Given the description of an element on the screen output the (x, y) to click on. 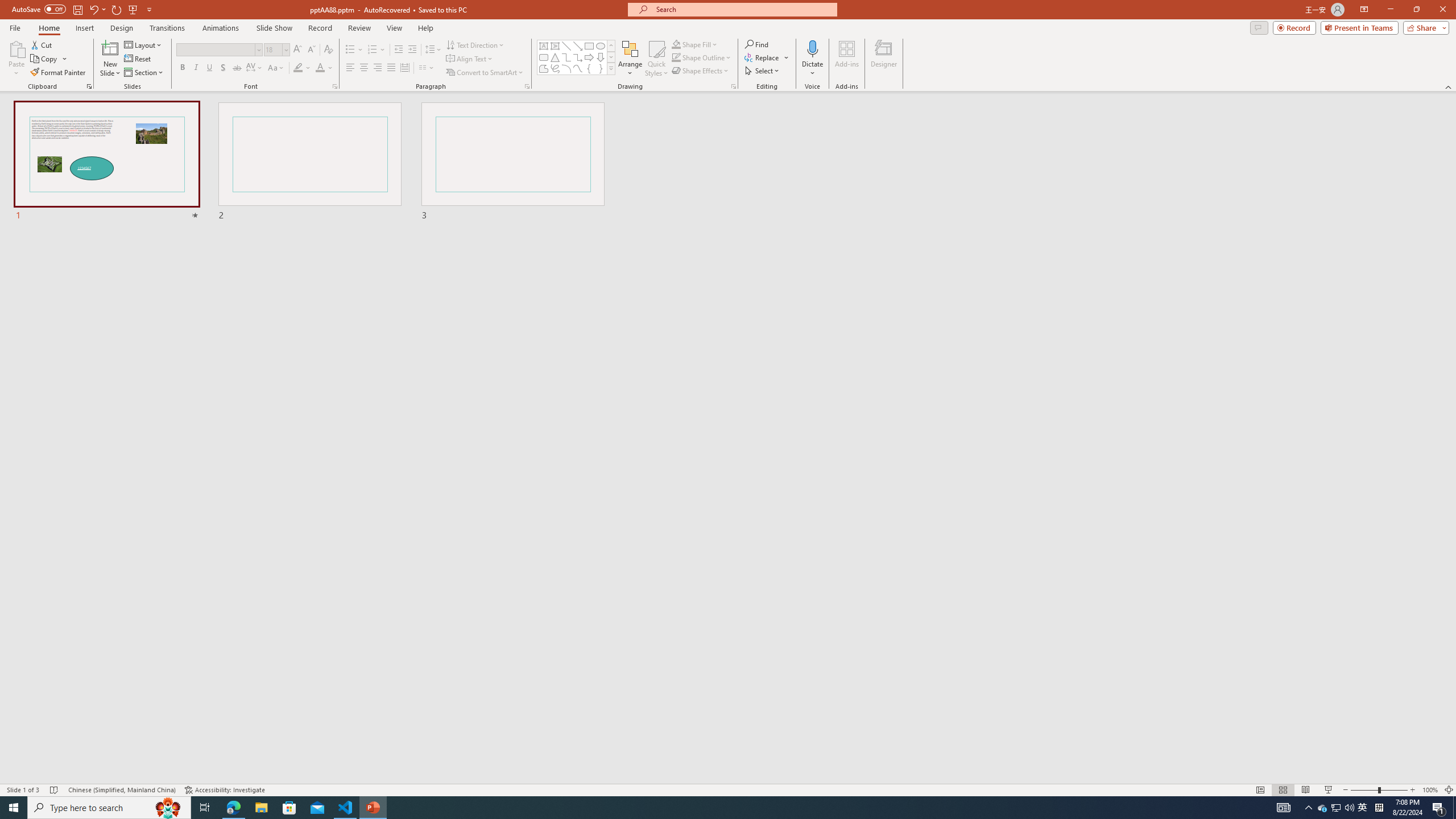
Find... (756, 44)
Bullets (349, 49)
Shapes (611, 68)
Numbering (372, 49)
Curve (577, 68)
Increase Indent (412, 49)
Quick Styles (656, 58)
Section (144, 72)
Class: NetUIImage (610, 68)
Line (566, 45)
Spell Check No Errors (54, 790)
